Given the description of an element on the screen output the (x, y) to click on. 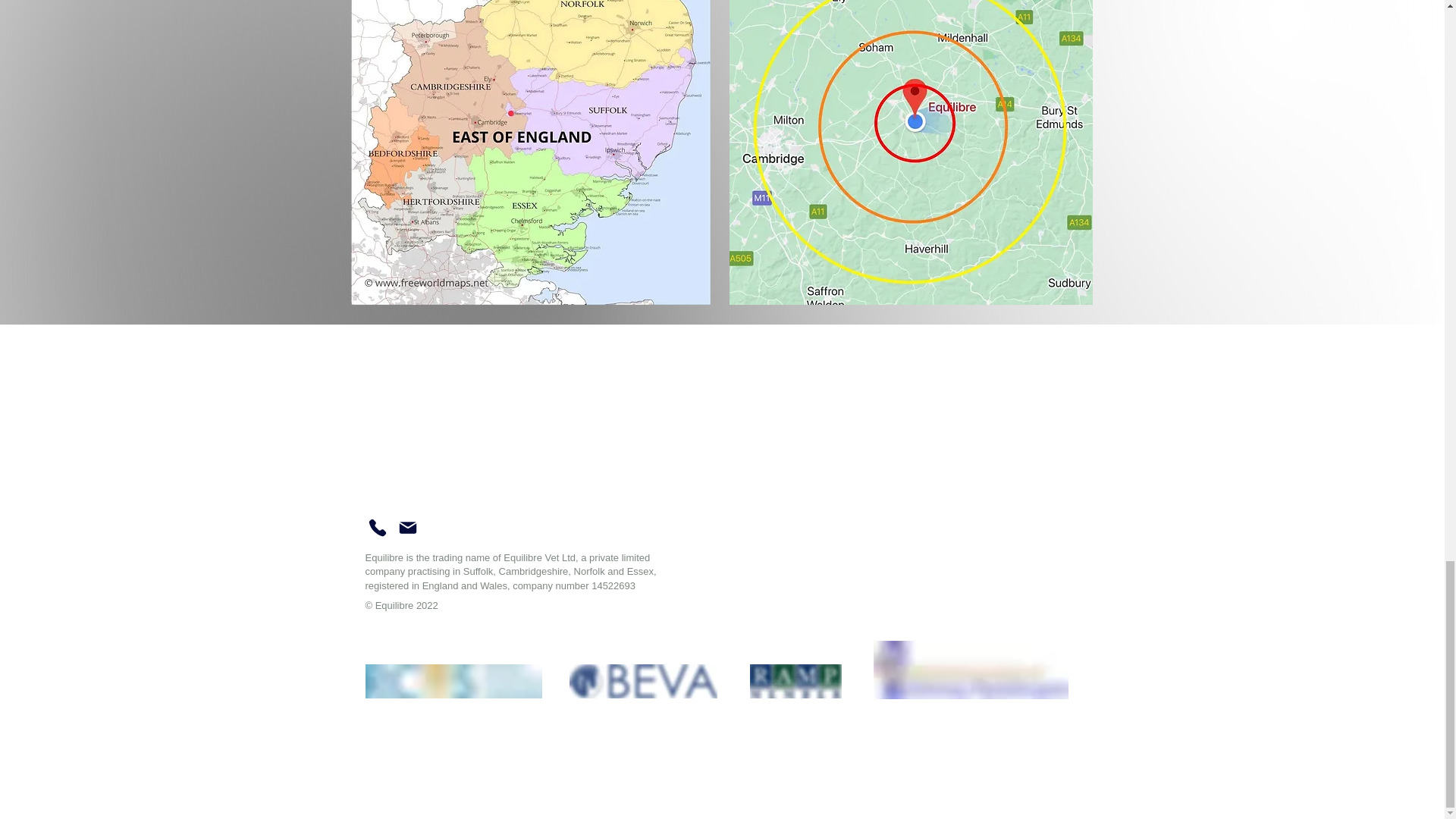
Member logo.jpg (795, 681)
BEVA logo Pantone 288U.png (642, 681)
rcvs.png (453, 681)
NAVP Logo 2.jpg (970, 669)
